Given the description of an element on the screen output the (x, y) to click on. 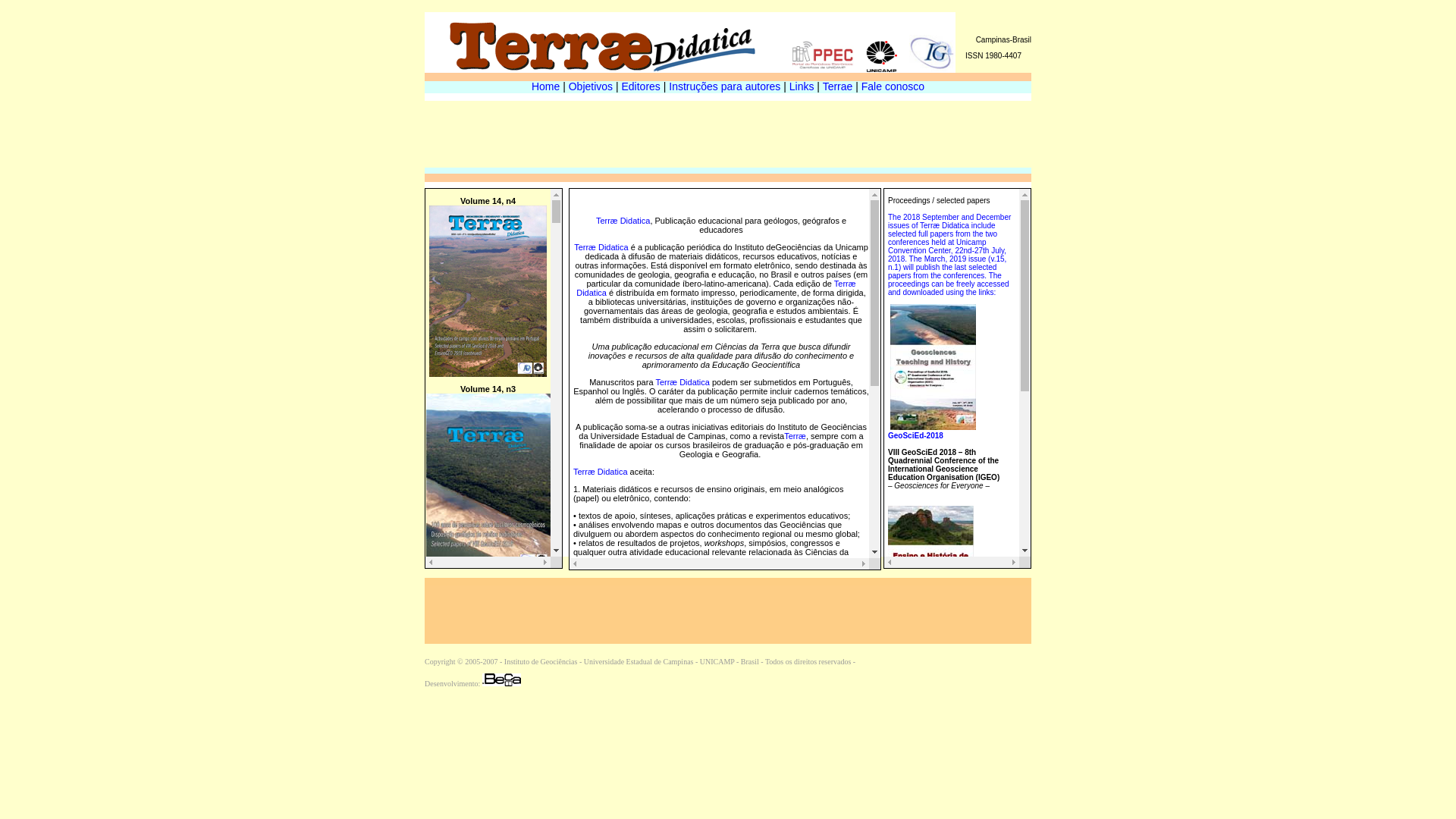
Objetivos Element type: text (590, 86)
__ Element type: text (887, 67)
Editores Element type: text (640, 86)
GeoSciEd-2018 Element type: text (931, 439)
Links Element type: text (801, 86)
EnsinoGEO 2018 Element type: text (933, 641)
Home Element type: text (545, 86)
Fale conosco Element type: text (892, 86)
Terrae Element type: text (837, 86)
